Given the description of an element on the screen output the (x, y) to click on. 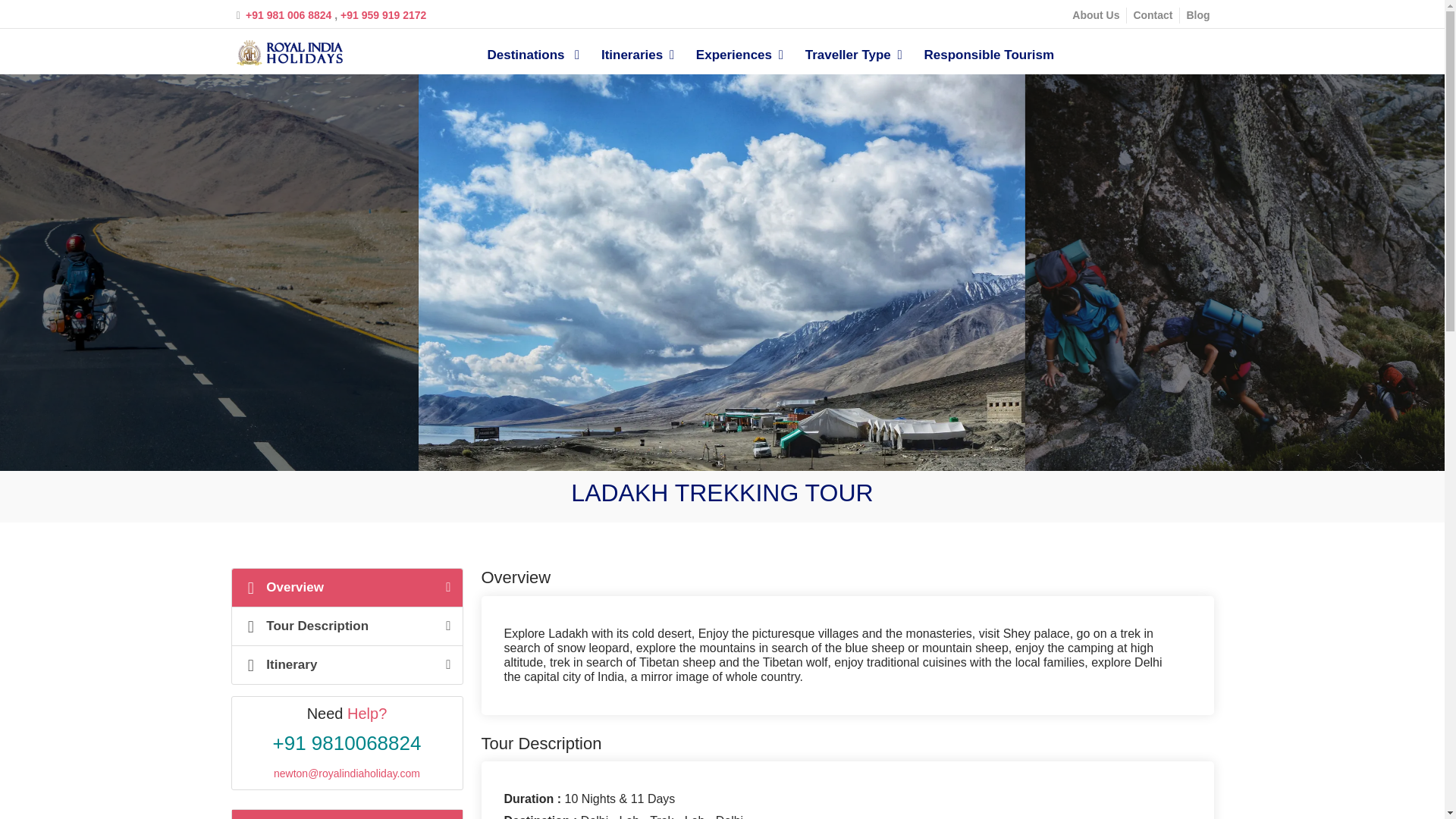
Itineraries (641, 60)
Contact (1152, 15)
Destinations (536, 60)
Traveller Type (857, 60)
About Us (1095, 15)
Experiences (743, 60)
Blog (1197, 15)
City tours travel template (291, 53)
